Given the description of an element on the screen output the (x, y) to click on. 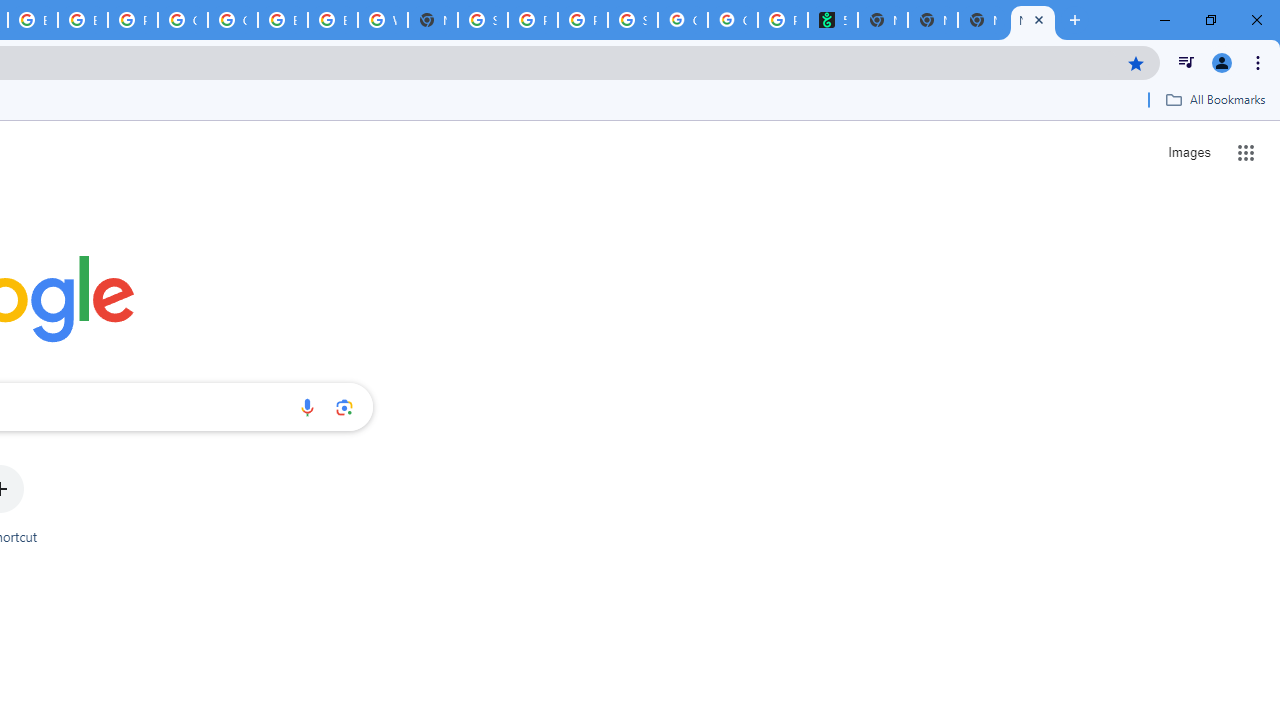
Browse Chrome as a guest - Computer - Google Chrome Help (283, 20)
New Tab (1032, 20)
Google Cloud Platform (232, 20)
